Given the description of an element on the screen output the (x, y) to click on. 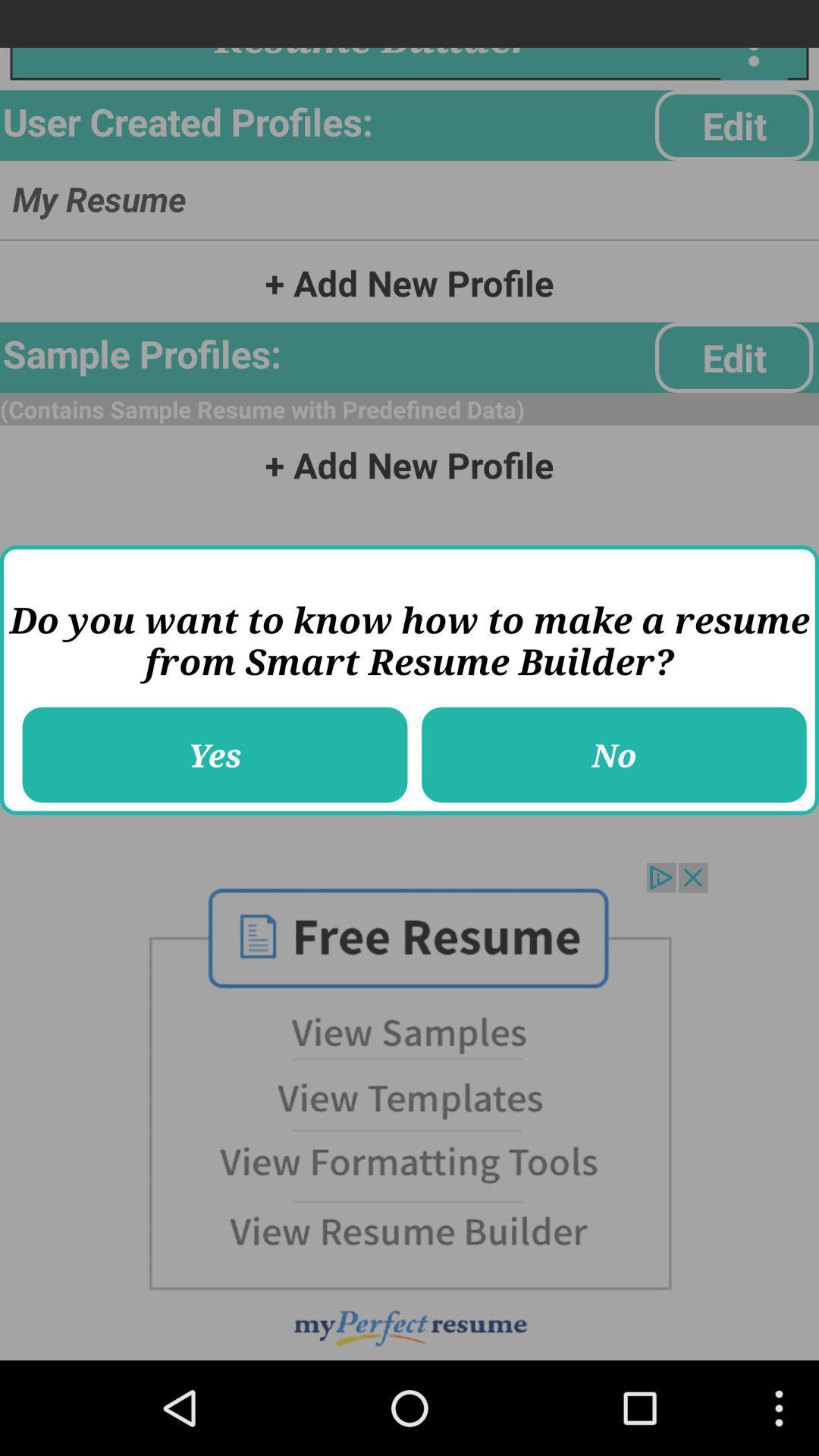
flip until yes button (214, 754)
